Given the description of an element on the screen output the (x, y) to click on. 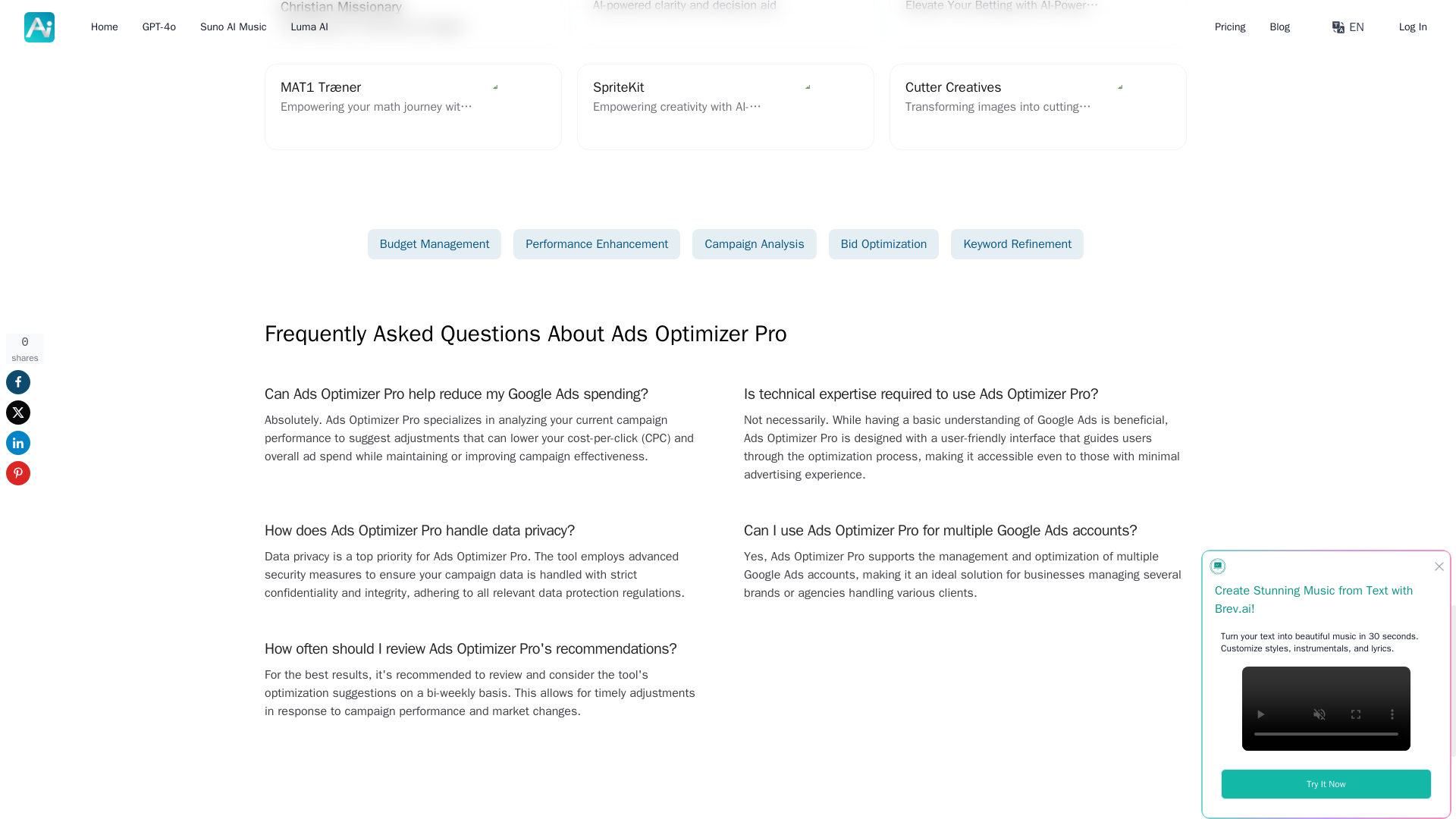
Advanced Match Predictor Bot (1037, 24)
Campaign Analysis (753, 243)
Cutter Creatives (1037, 106)
My Ancestor was a British Christian Missionary (413, 24)
Clarity Companion by Ness Labs (725, 106)
